Given the description of an element on the screen output the (x, y) to click on. 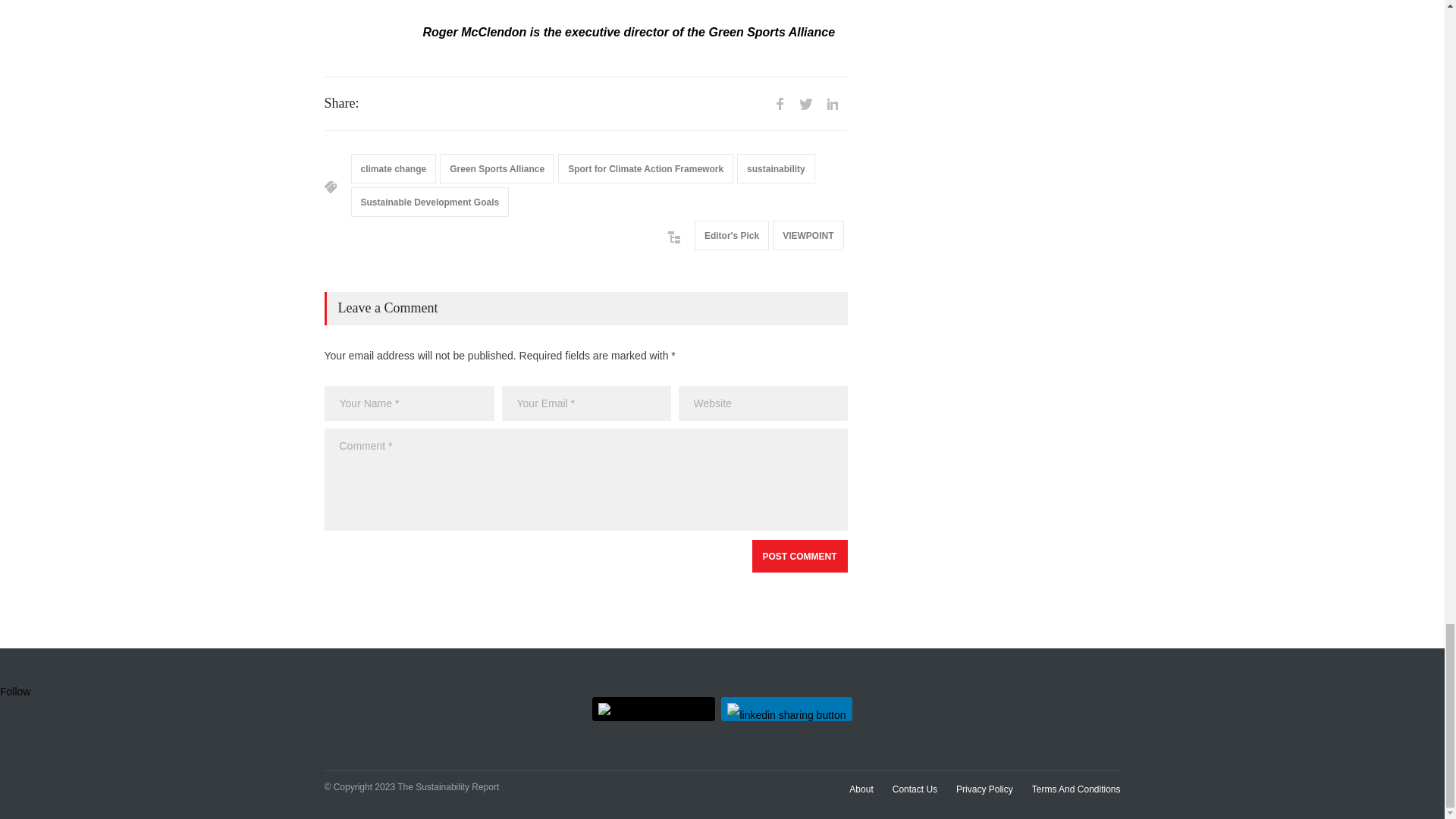
Sustainable Development Goals (429, 202)
Green Sports Alliance (496, 168)
View all posts filed under climate change (392, 168)
Sport for Climate Action Framework (645, 168)
Editor's Pick (731, 235)
View all posts filed under Green Sports Alliance (496, 168)
